Given the description of an element on the screen output the (x, y) to click on. 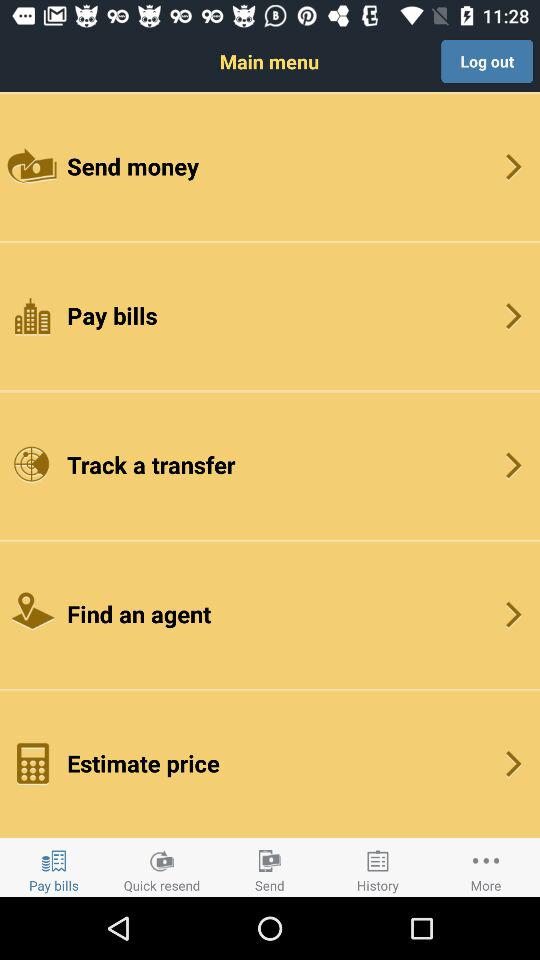
select the item above the find an agent button (270, 464)
